Given the description of an element on the screen output the (x, y) to click on. 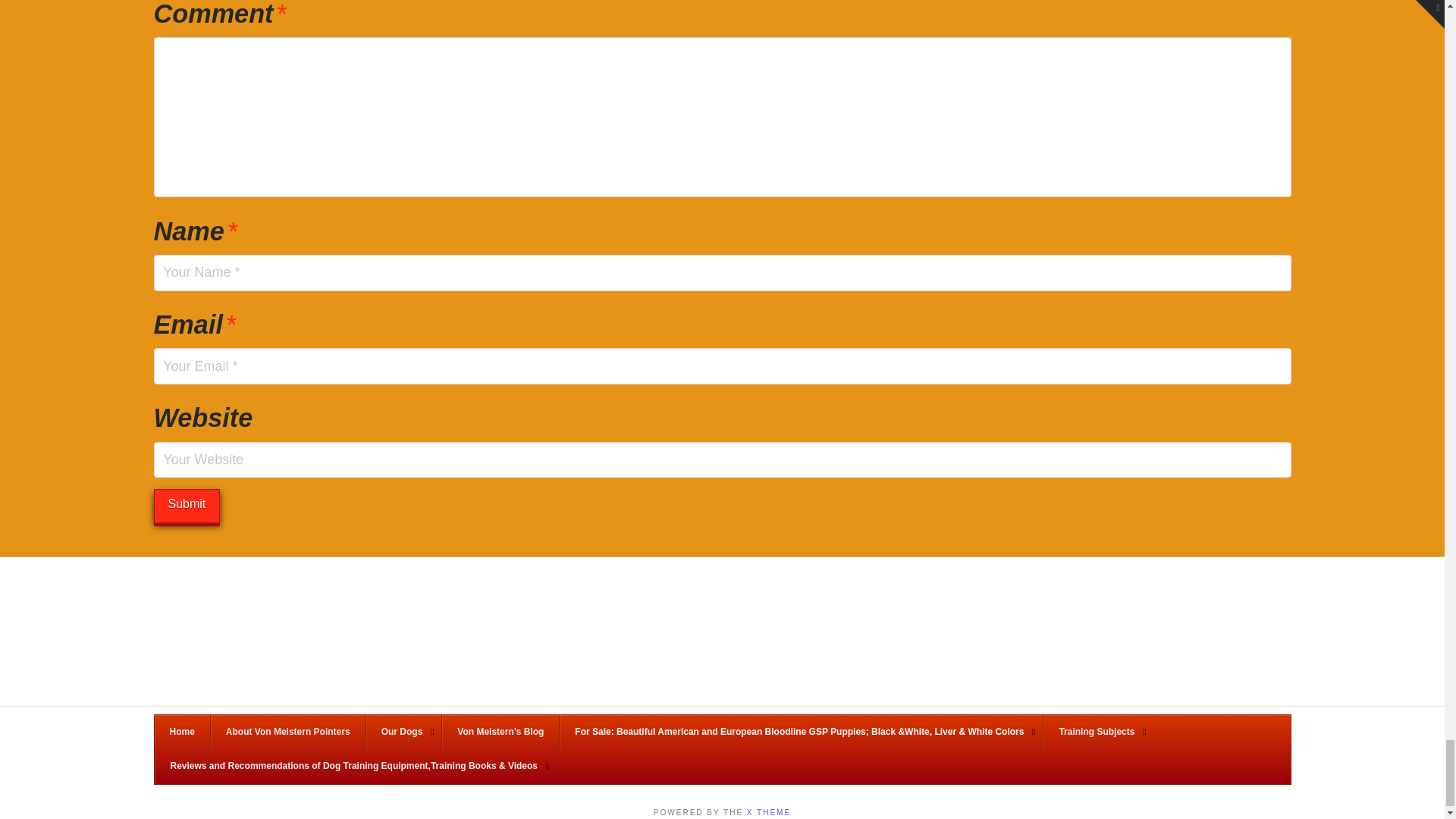
Submit (185, 505)
